Given the description of an element on the screen output the (x, y) to click on. 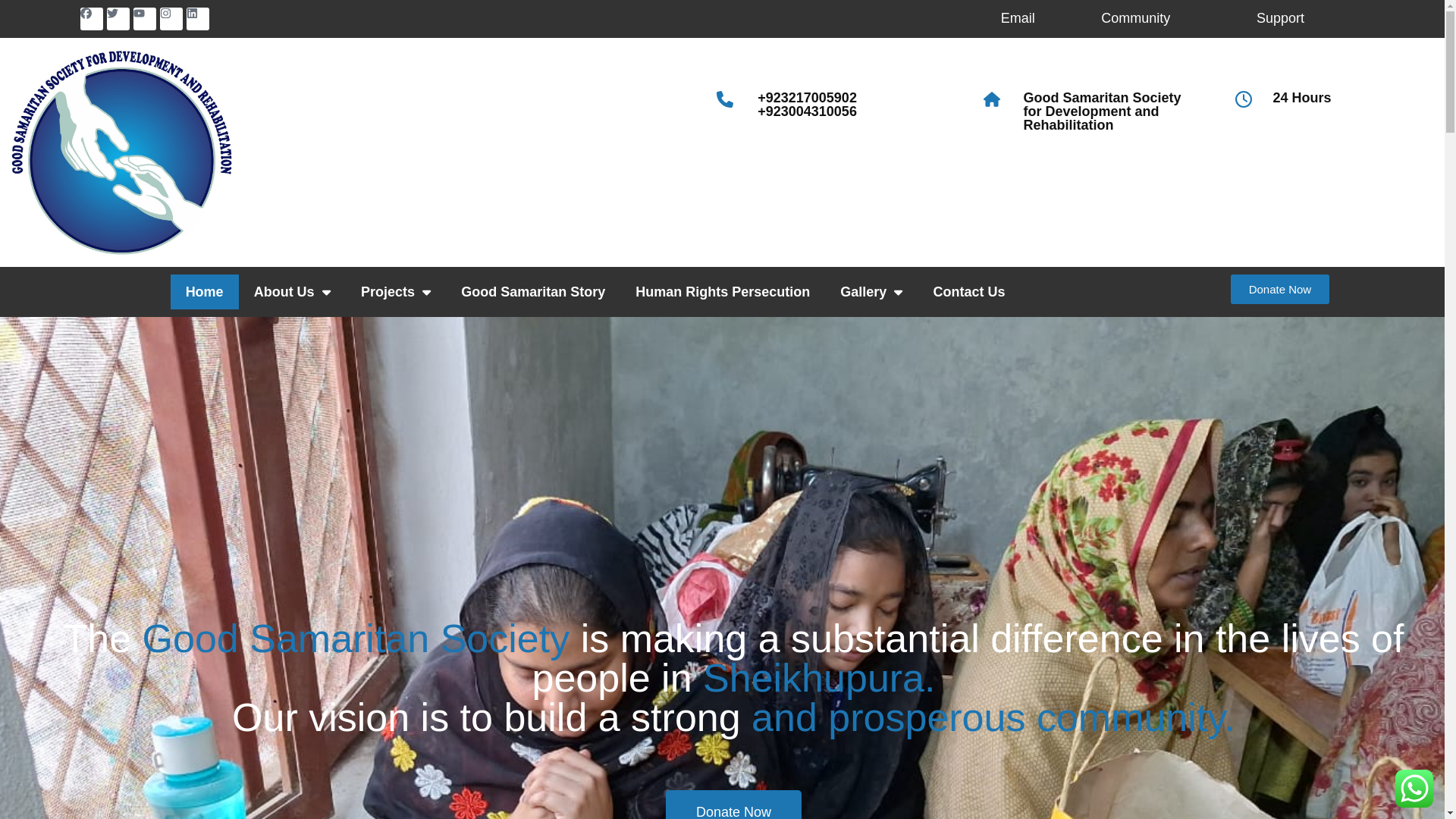
Community (1135, 17)
About Us (292, 291)
Projects (395, 291)
Human Rights Persecution (722, 291)
Gallery (871, 291)
Email (1018, 17)
Good Samaritan Story (532, 291)
Home (204, 291)
Support (1280, 17)
Contact Us (969, 291)
